Given the description of an element on the screen output the (x, y) to click on. 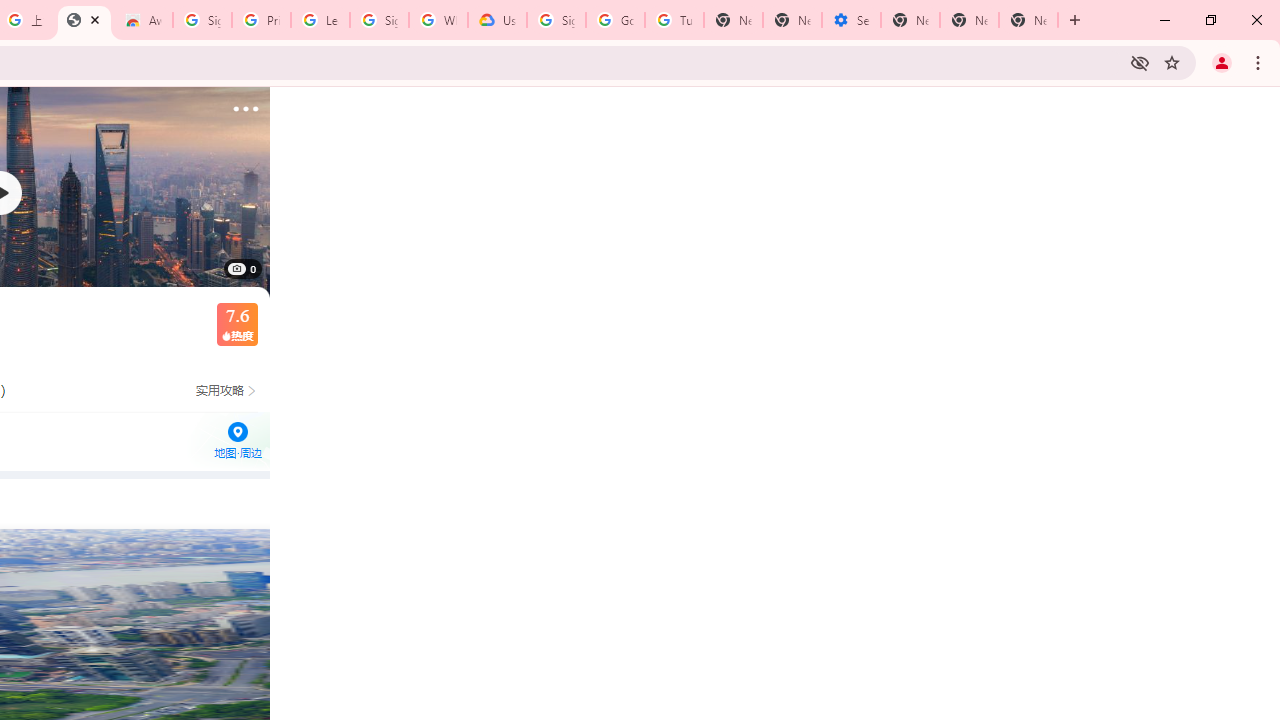
New Tab (1028, 20)
Settings - Addresses and more (850, 20)
Sign in - Google Accounts (201, 20)
Sign in - Google Accounts (379, 20)
Sign in - Google Accounts (556, 20)
Awesome Screen Recorder & Screenshot - Chrome Web Store (142, 20)
